Given the description of an element on the screen output the (x, y) to click on. 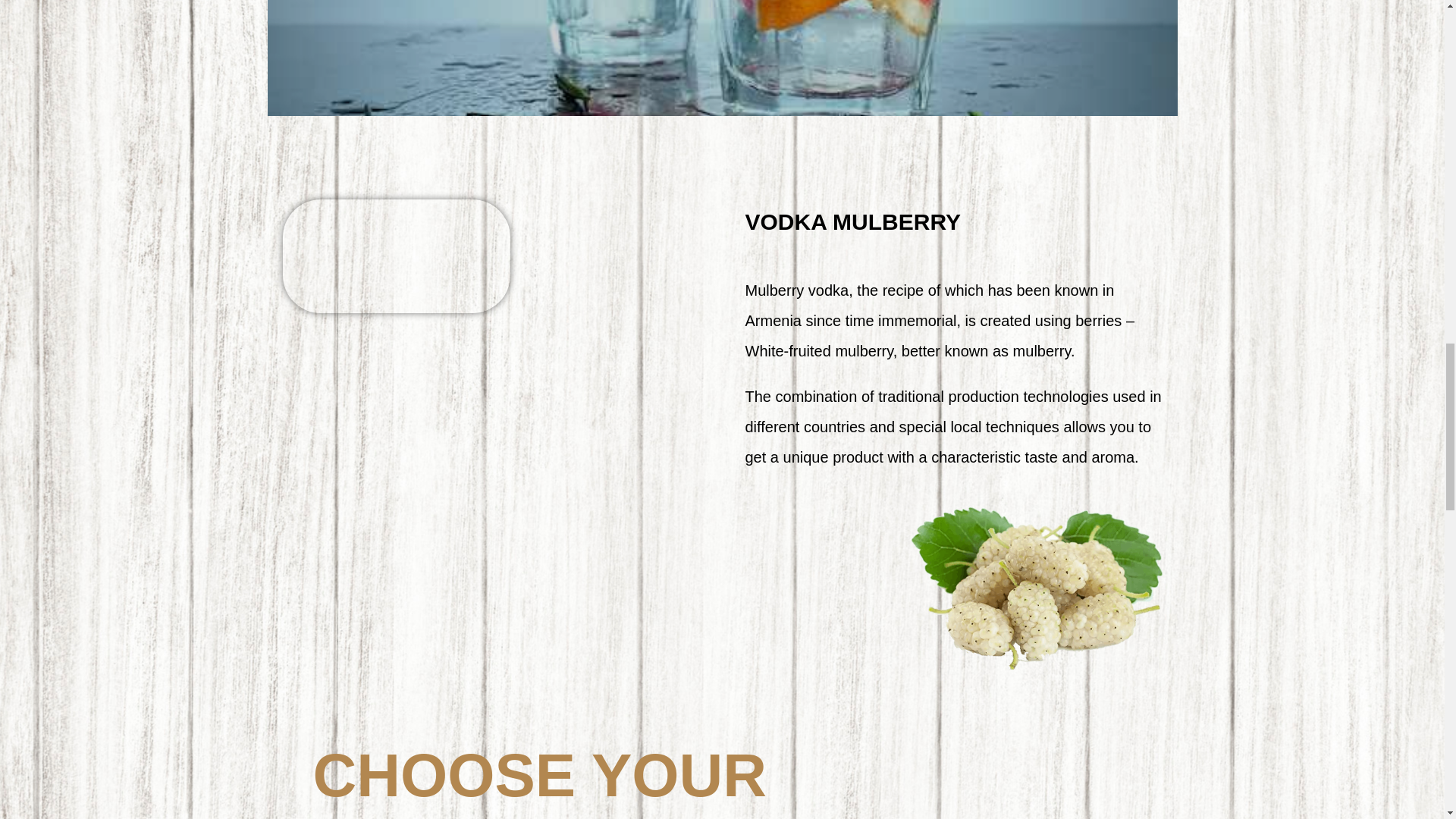
tut-0.5-0.2 (395, 255)
